Given the description of an element on the screen output the (x, y) to click on. 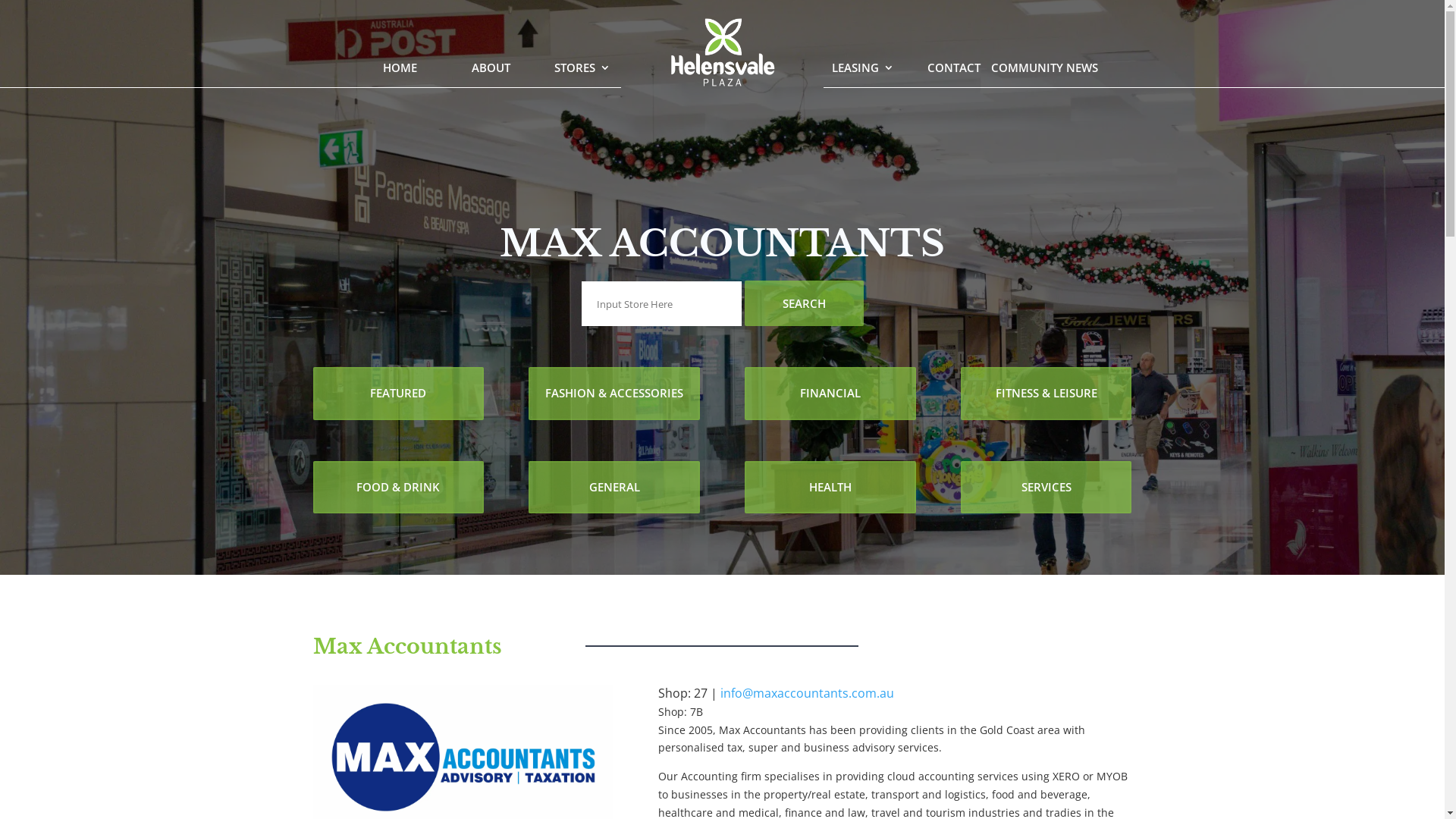
FEATURED Element type: text (397, 393)
FOOD & DRINK Element type: text (397, 487)
HOME Element type: text (399, 67)
LEASING Element type: text (862, 67)
COMMUNITY NEWS Element type: text (1044, 67)
info@maxaccountants.com.au Element type: text (807, 692)
FASHION & ACCESSORIES Element type: text (613, 393)
HEALTH Element type: text (829, 487)
FITNESS & LEISURE Element type: text (1045, 393)
ABOUT Element type: text (490, 67)
Search Element type: text (803, 303)
GENERAL Element type: text (613, 487)
FINANCIAL Element type: text (829, 393)
SERVICES Element type: text (1045, 487)
CONTACT Element type: text (952, 67)
STORES Element type: text (581, 67)
